Given the description of an element on the screen output the (x, y) to click on. 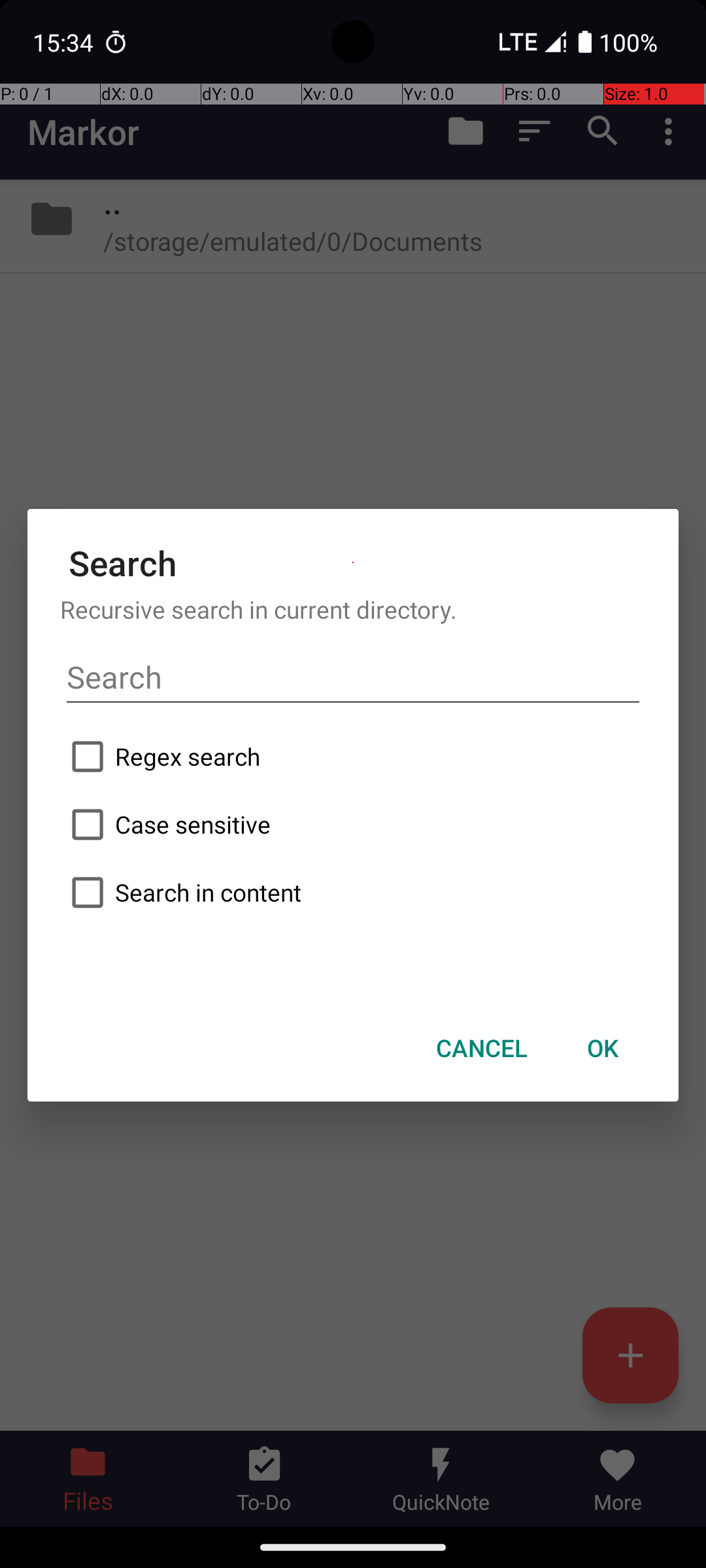
Recursive search in current directory. Element type: android.widget.TextView (352, 608)
Regex search Element type: android.widget.CheckBox (352, 756)
Case sensitive Element type: android.widget.CheckBox (352, 824)
Search in content Element type: android.widget.CheckBox (352, 892)
